Given the description of an element on the screen output the (x, y) to click on. 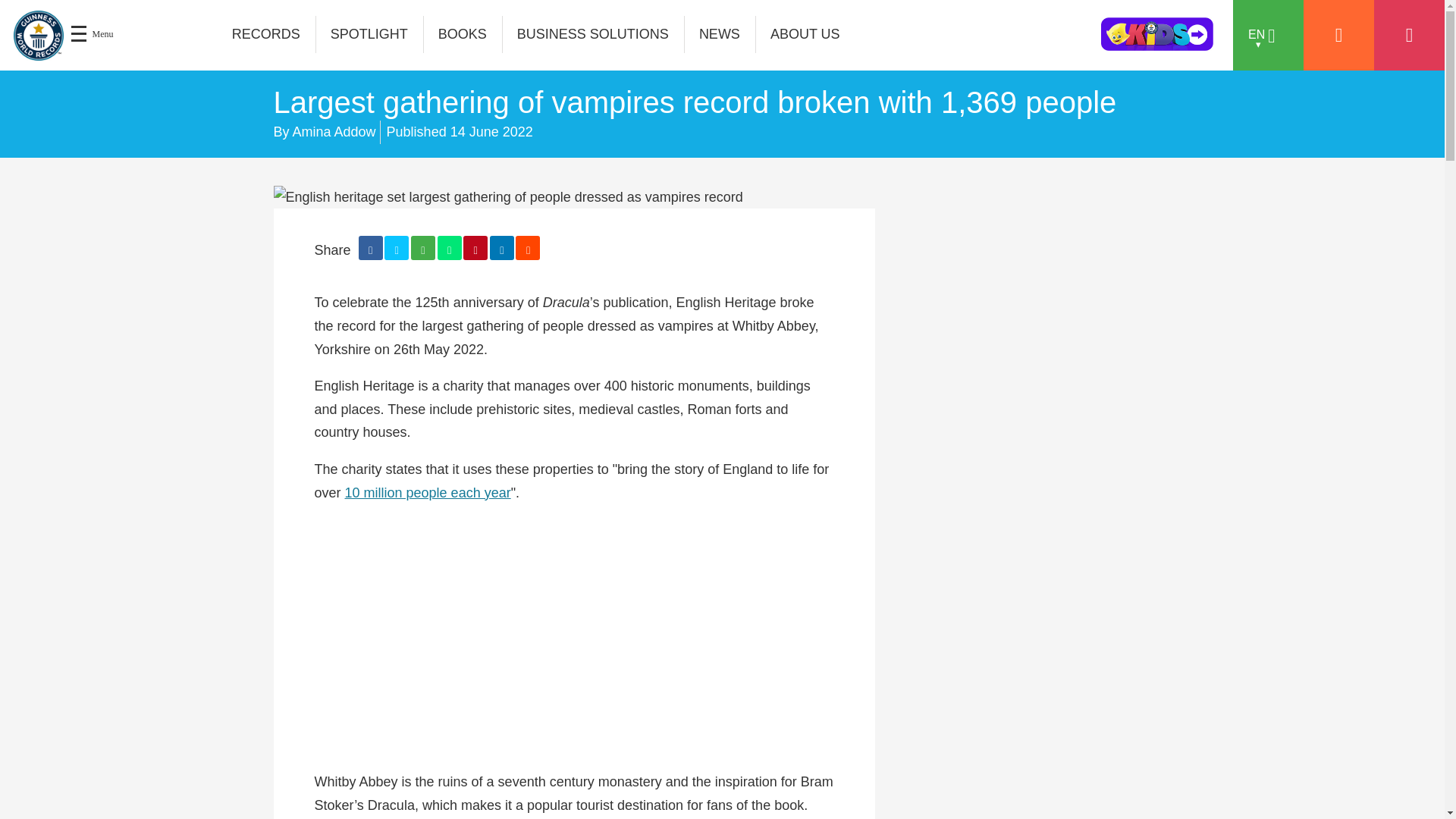
Account (1338, 35)
BUSINESS SOLUTIONS (593, 34)
NEWS (719, 34)
SPOTLIGHT (369, 34)
ABOUT US (805, 34)
YouTube video player (573, 636)
BOOKS (462, 34)
RECORDS (265, 34)
EN (1268, 35)
search (1029, 38)
Select Language (1268, 35)
